Given the description of an element on the screen output the (x, y) to click on. 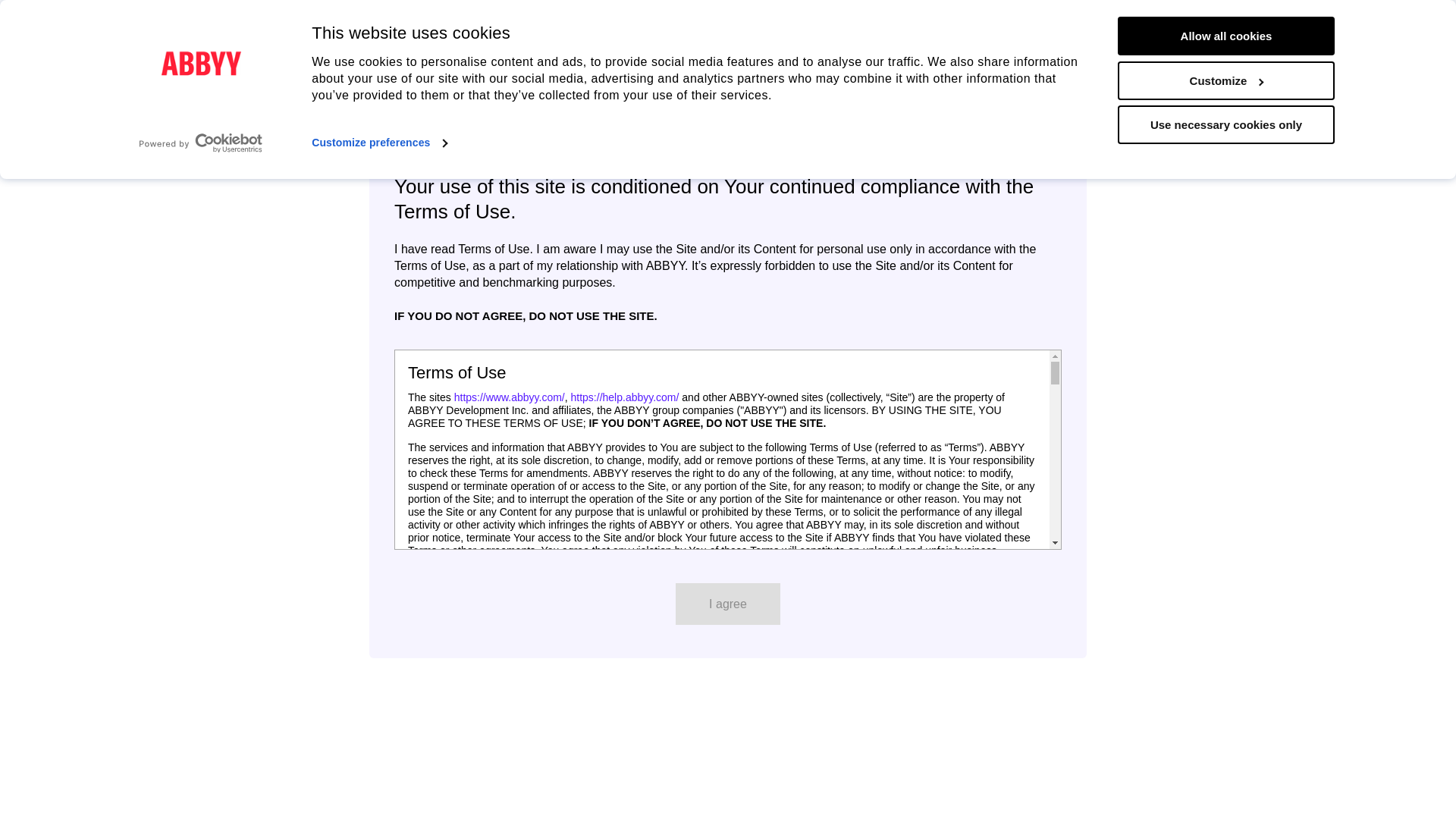
Customize preferences (378, 142)
